Given the description of an element on the screen output the (x, y) to click on. 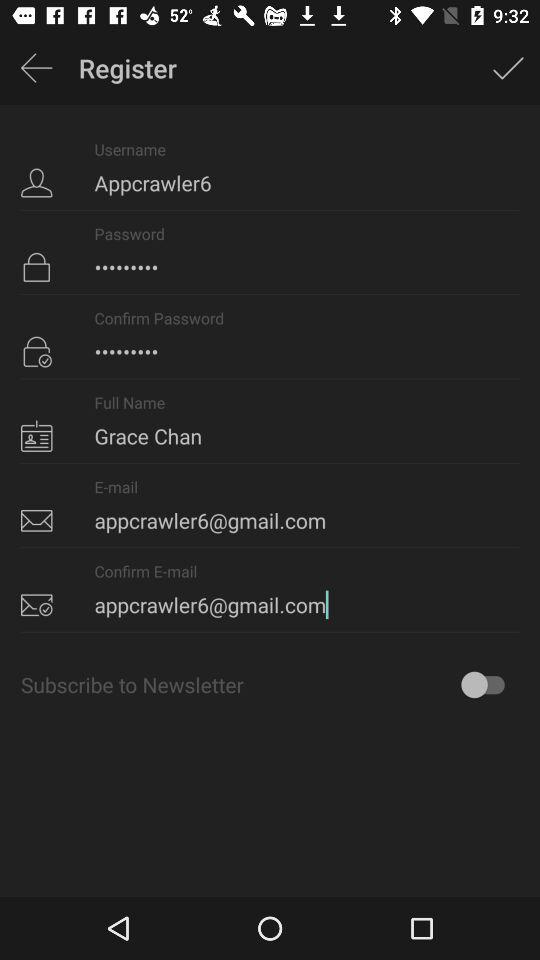
turn off app to the right of the register icon (508, 67)
